Given the description of an element on the screen output the (x, y) to click on. 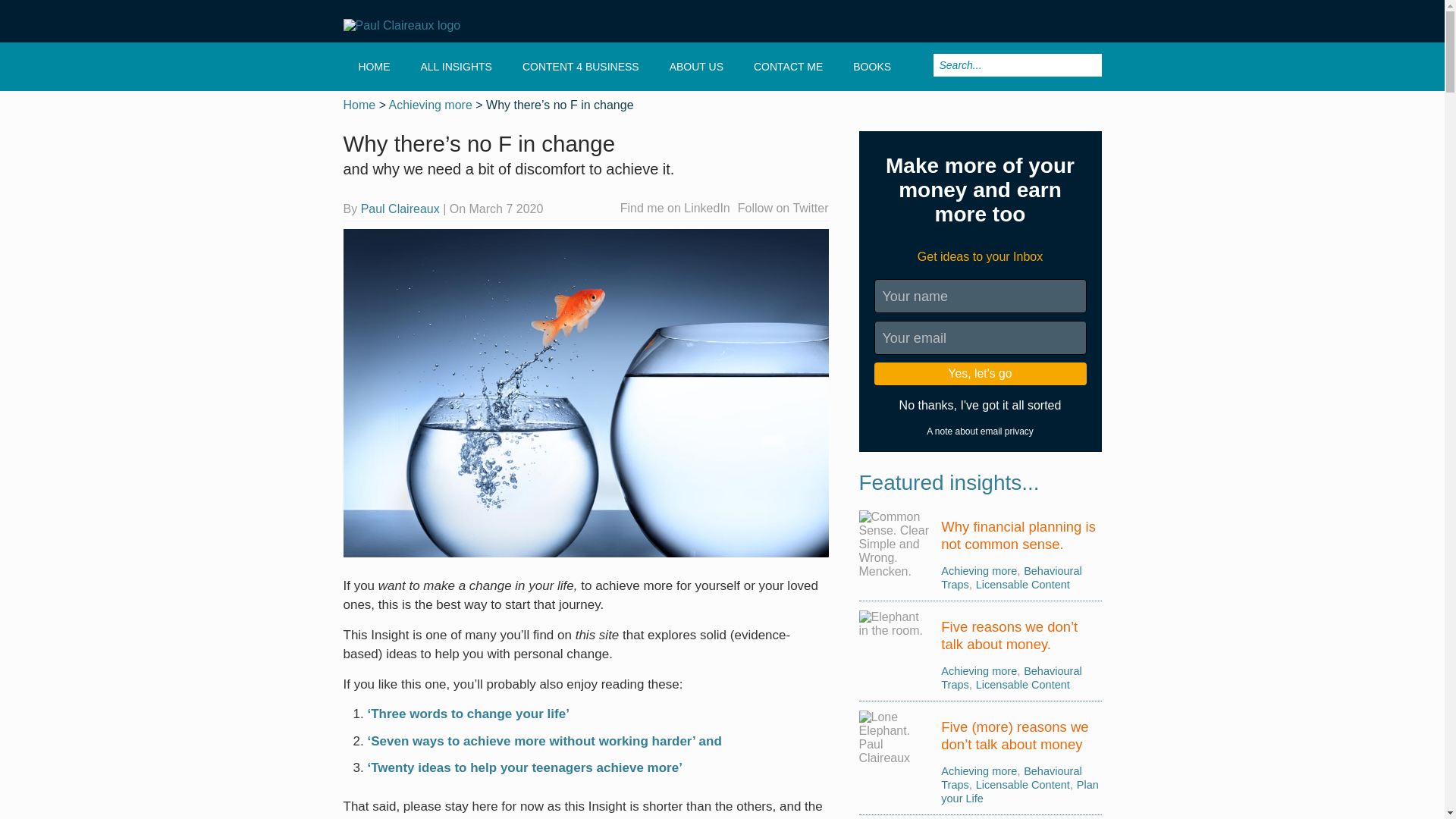
CONTACT ME (788, 66)
BOOKS (871, 66)
ALL INSIGHTS (455, 66)
Go to the Achieving more category archives. (429, 104)
Paul Claireaux - Achieve more of what matters to you (456, 25)
Search... (1016, 65)
Go to Paul Claireaux. (358, 104)
Posts by Paul Claireaux (400, 208)
CONTENT 4 BUSINESS (579, 66)
Your email (979, 337)
Search... (1016, 65)
Your name (979, 295)
Yes, let's go (979, 373)
Privacy Policy (979, 430)
HOME (373, 66)
